Given the description of an element on the screen output the (x, y) to click on. 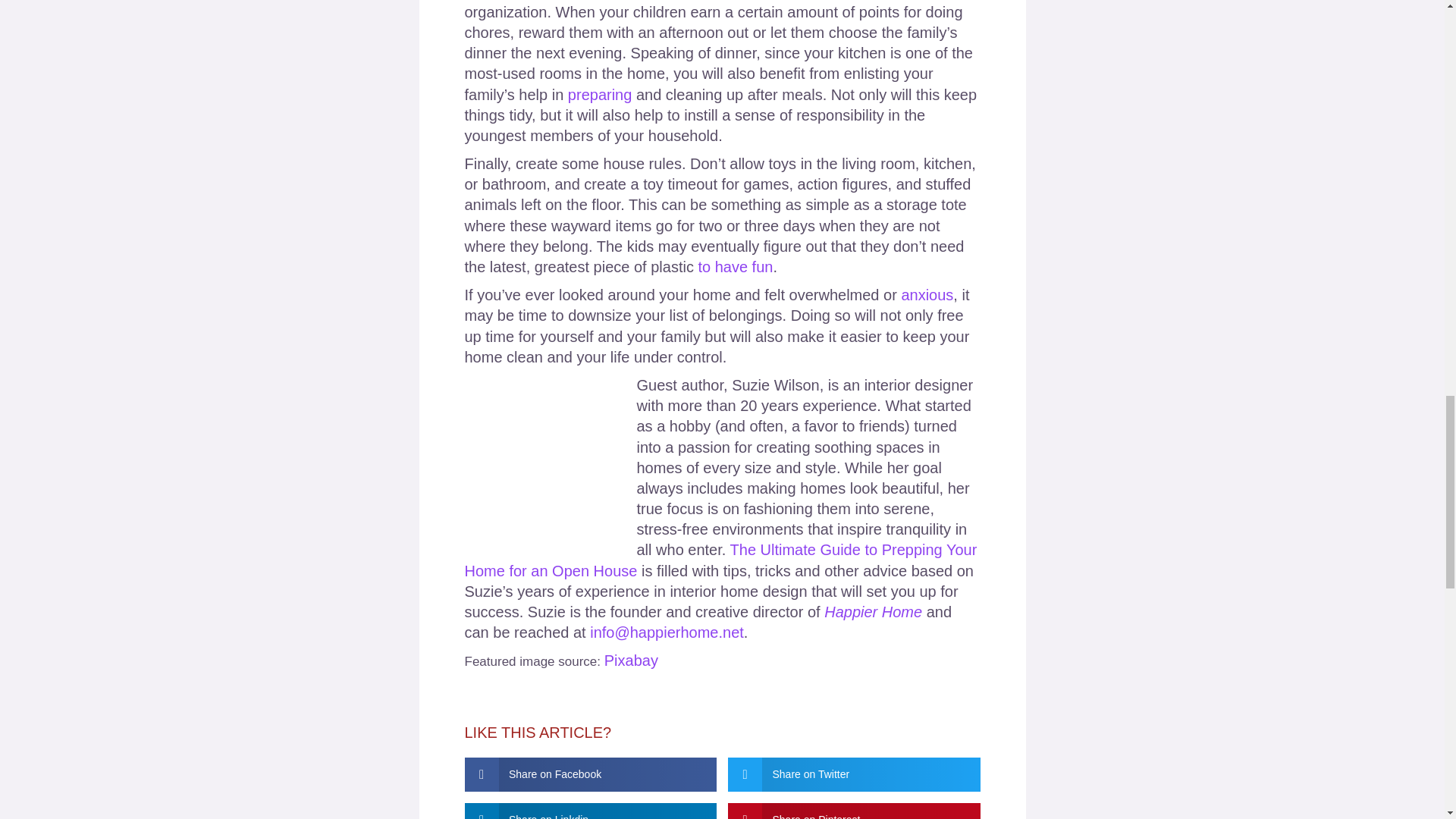
anxious (927, 294)
preparing (599, 94)
The Ultimate Guide to Prepping Your Home for an Open House (720, 559)
Happier Home (872, 611)
Pixabay (631, 660)
to have fun (735, 266)
